Given the description of an element on the screen output the (x, y) to click on. 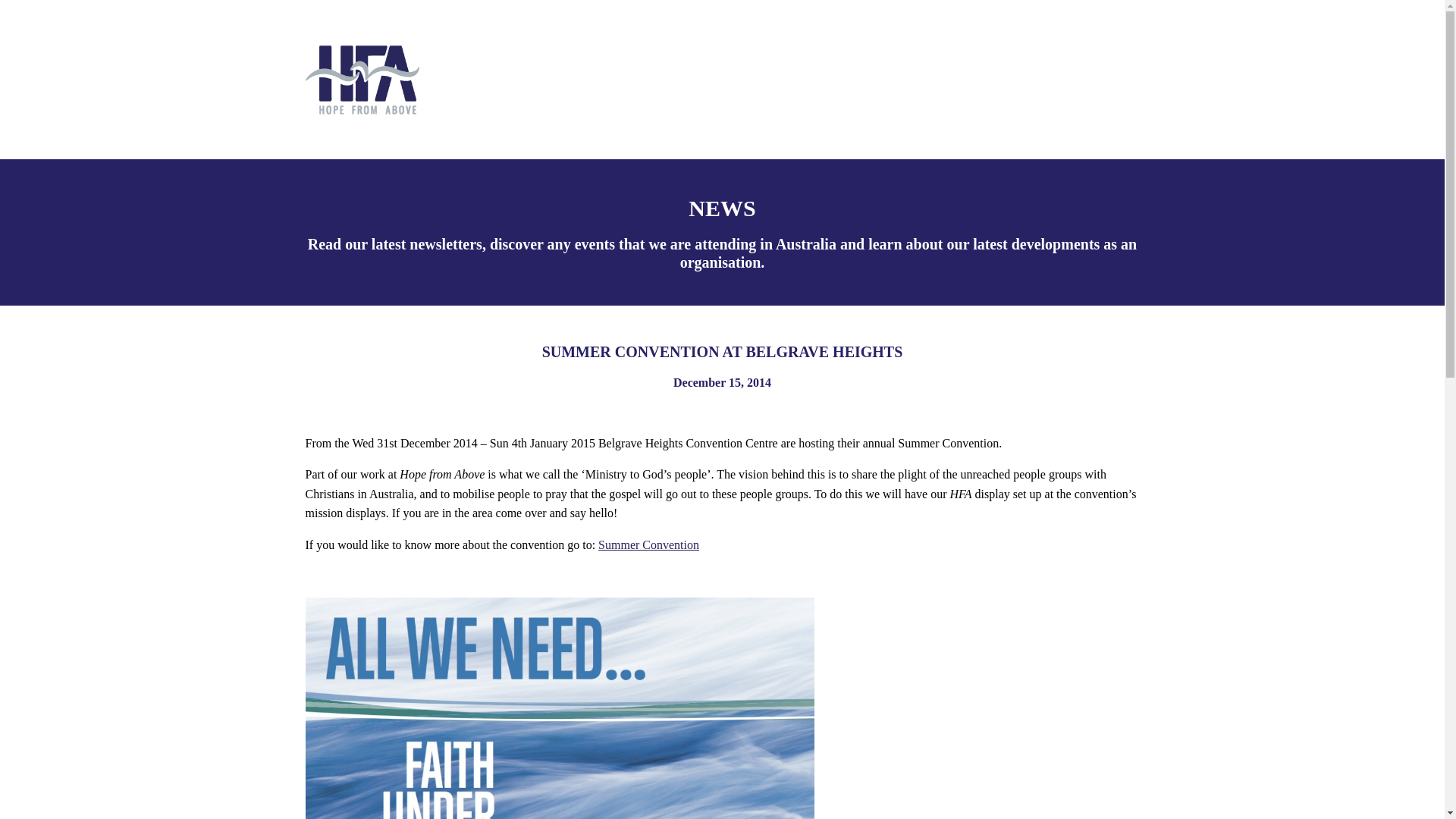
GET INVOLVED (918, 80)
SUMMER CONVENTION AT BELGRAVE HEIGHTS (558, 708)
CONTACT US (1060, 80)
NEWS (806, 80)
ABOUT (724, 80)
Summer Convention (648, 544)
HOME (639, 80)
